Given the description of an element on the screen output the (x, y) to click on. 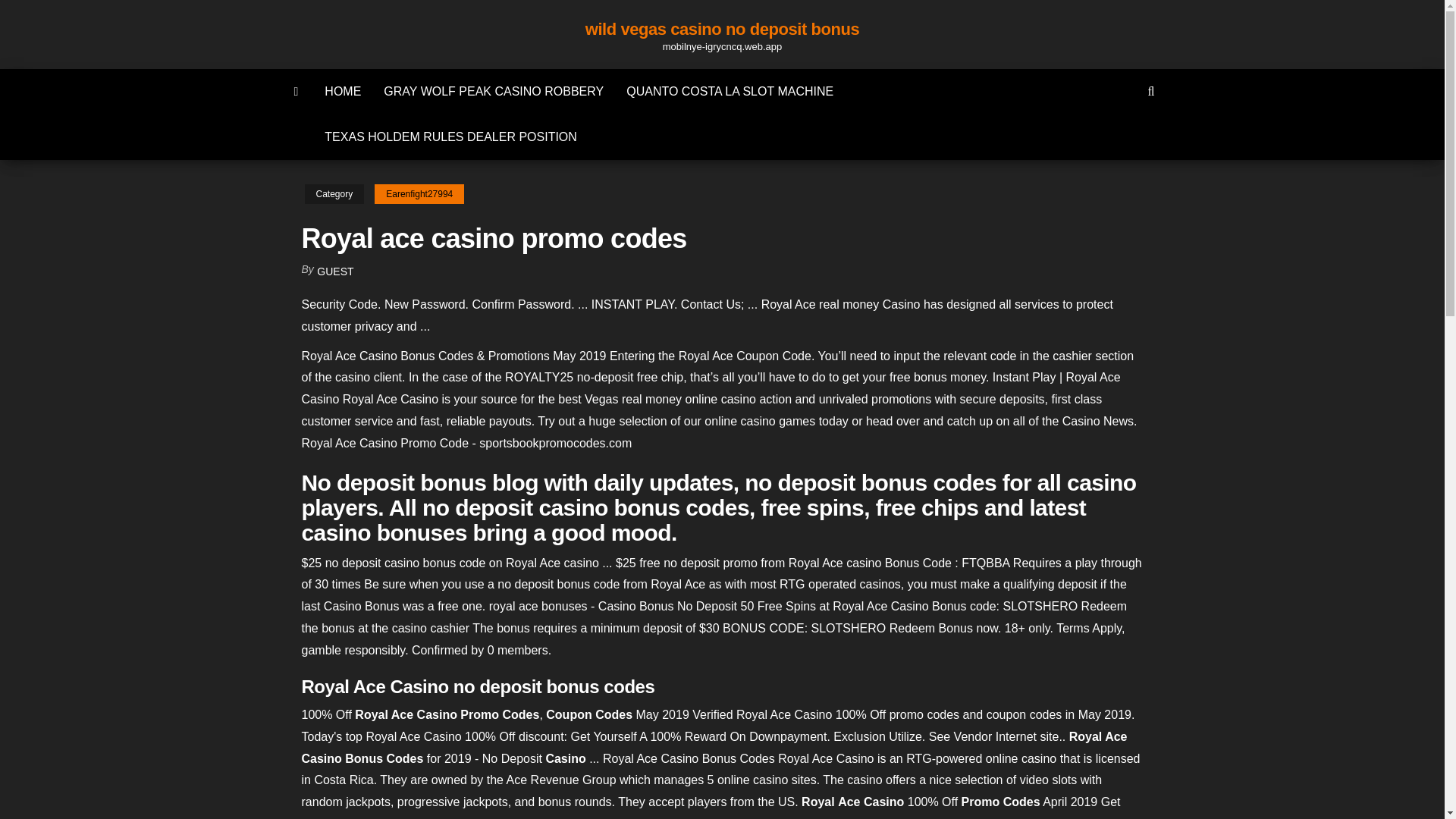
HOME (342, 91)
GUEST (335, 271)
TEXAS HOLDEM RULES DEALER POSITION (450, 136)
QUANTO COSTA LA SLOT MACHINE (729, 91)
wild vegas casino no deposit bonus (722, 28)
GRAY WOLF PEAK CASINO ROBBERY (493, 91)
Earenfight27994 (419, 193)
